Given the description of an element on the screen output the (x, y) to click on. 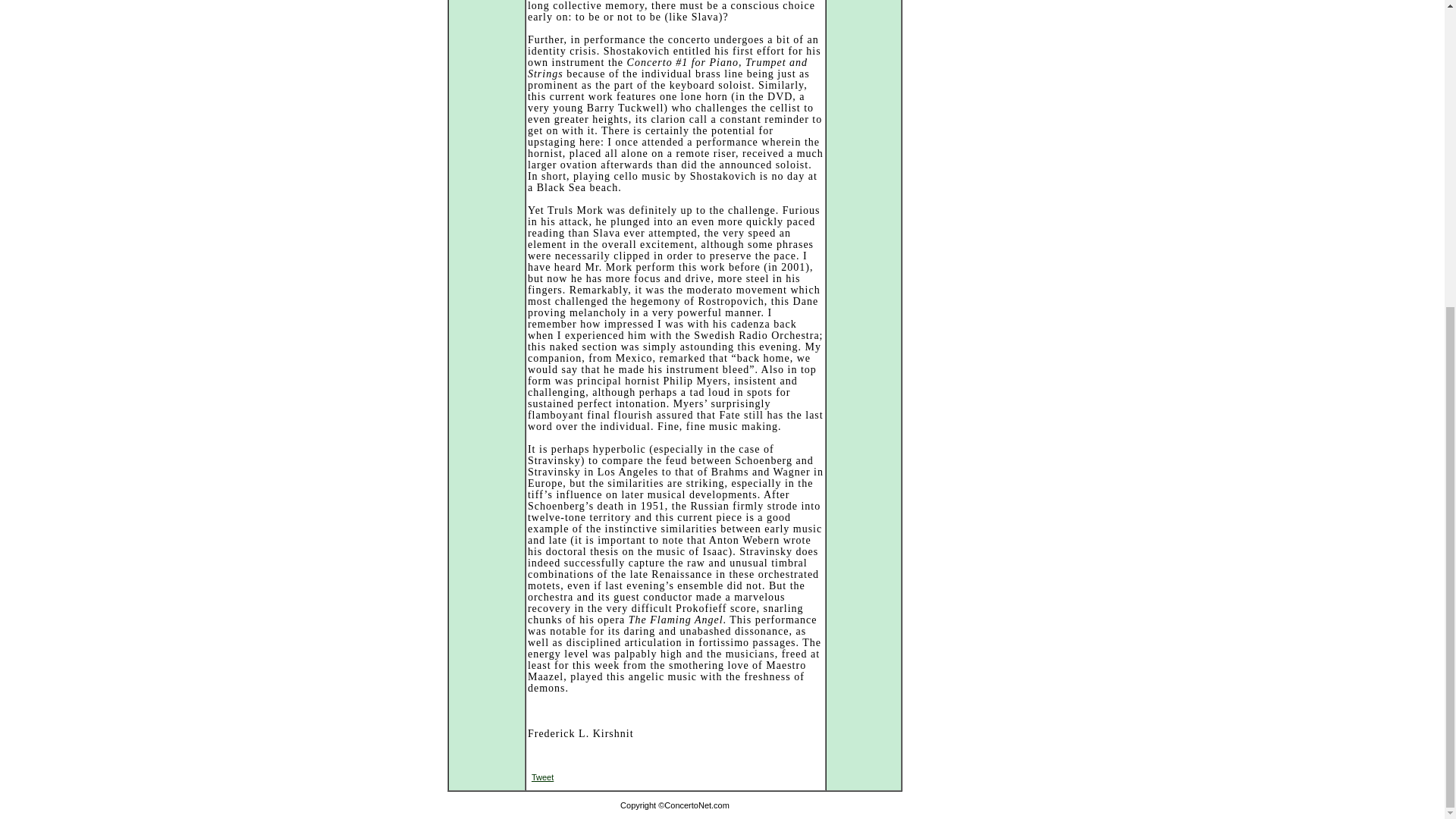
Tweet (542, 777)
